Given the description of an element on the screen output the (x, y) to click on. 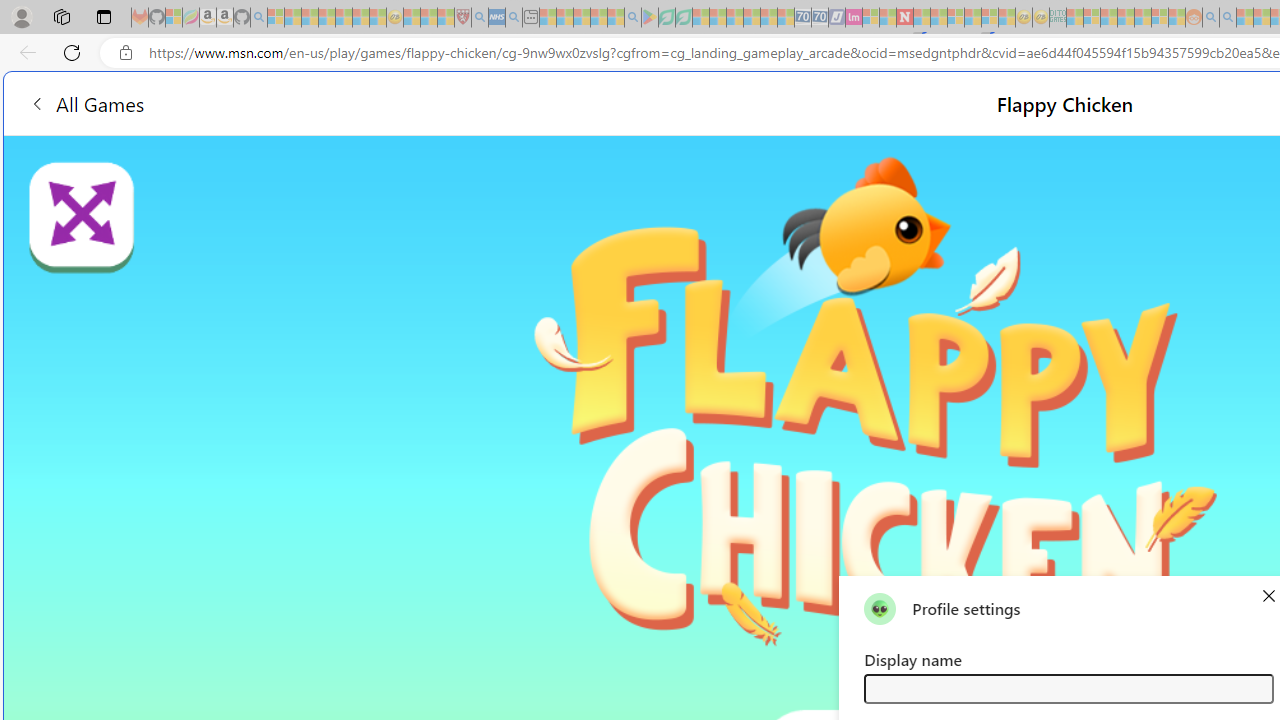
Expert Portfolios - Sleeping (1125, 17)
""'s avatar (880, 608)
utah sues federal government - Search - Sleeping (513, 17)
All Games (86, 102)
All Games (373, 102)
